Given the description of an element on the screen output the (x, y) to click on. 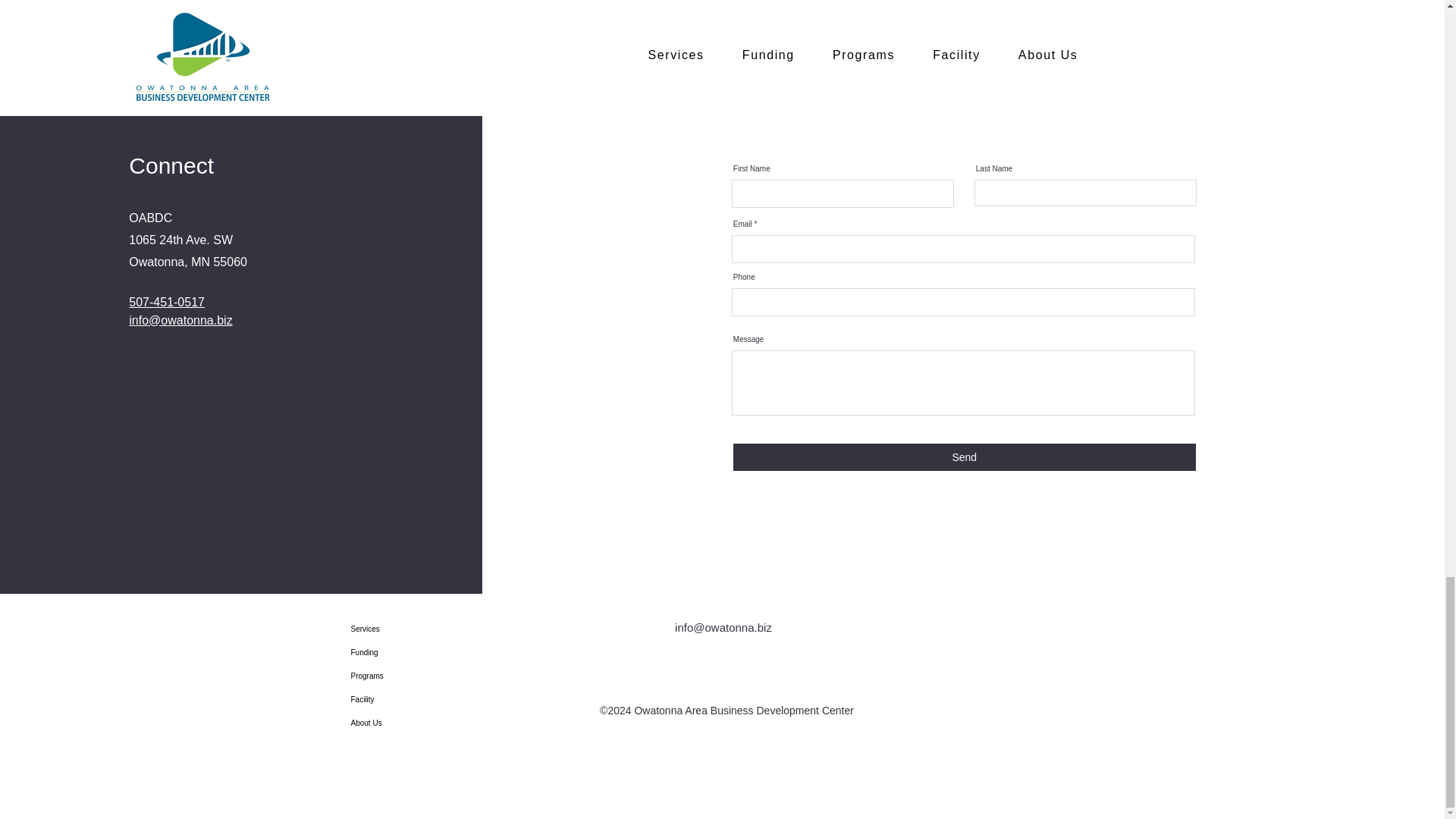
Send (964, 456)
About Us (401, 722)
Services (401, 628)
Facility (401, 699)
507-451-0517 (167, 301)
Programs (401, 675)
Funding (401, 652)
